Given the description of an element on the screen output the (x, y) to click on. 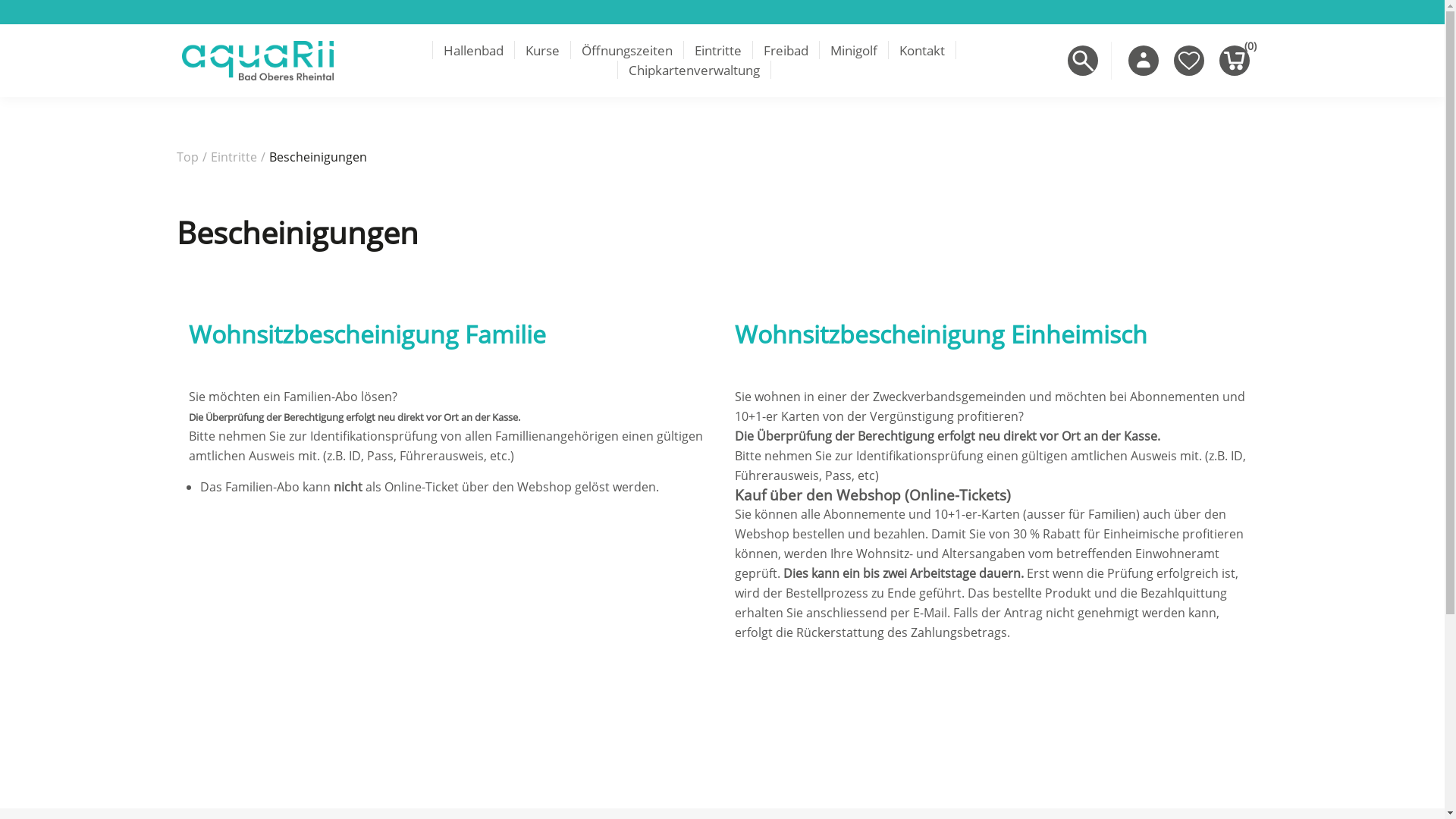
Hallenbad Element type: text (473, 50)
Top Element type: text (186, 156)
Chipkartenverwaltung Element type: text (694, 70)
Eintritte Element type: text (233, 156)
Eintritte Element type: text (717, 50)
Kurse Element type: text (542, 50)
Minigolf Element type: text (853, 50)
Kontakt Element type: text (921, 50)
Warenkorb
(0) Element type: text (1234, 60)
Freibad Element type: text (785, 50)
Wunschliste Element type: text (1188, 60)
